Given the description of an element on the screen output the (x, y) to click on. 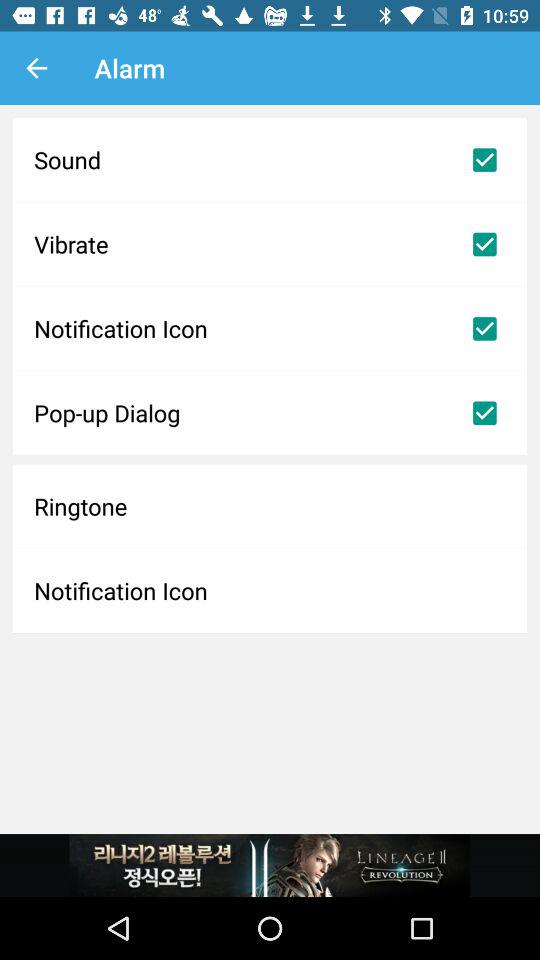
select the sound item (269, 160)
